Given the description of an element on the screen output the (x, y) to click on. 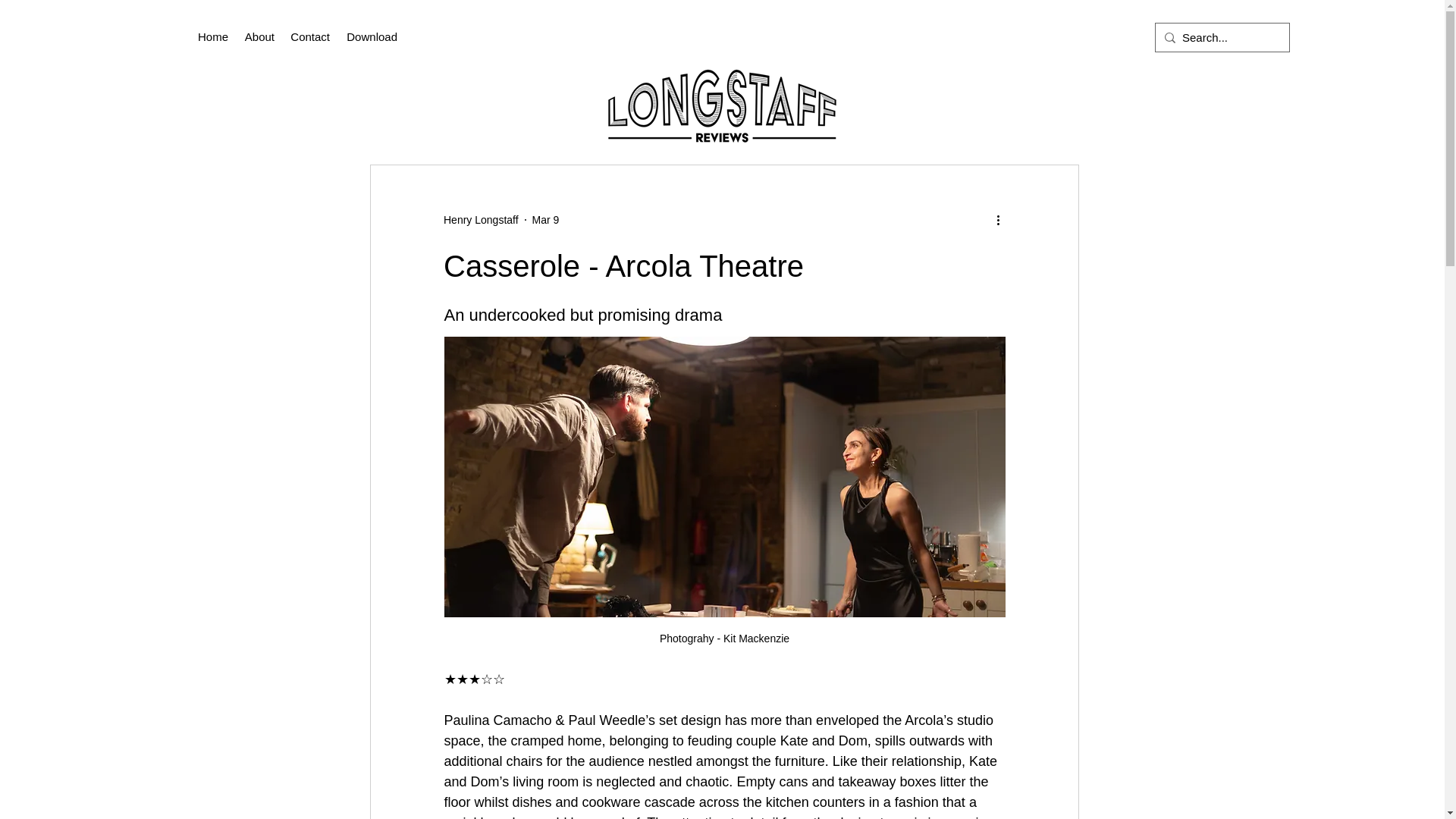
Home (212, 36)
Download (370, 36)
Henry Longstaff (481, 220)
Mar 9 (545, 219)
Contact (309, 36)
About (258, 36)
